Given the description of an element on the screen output the (x, y) to click on. 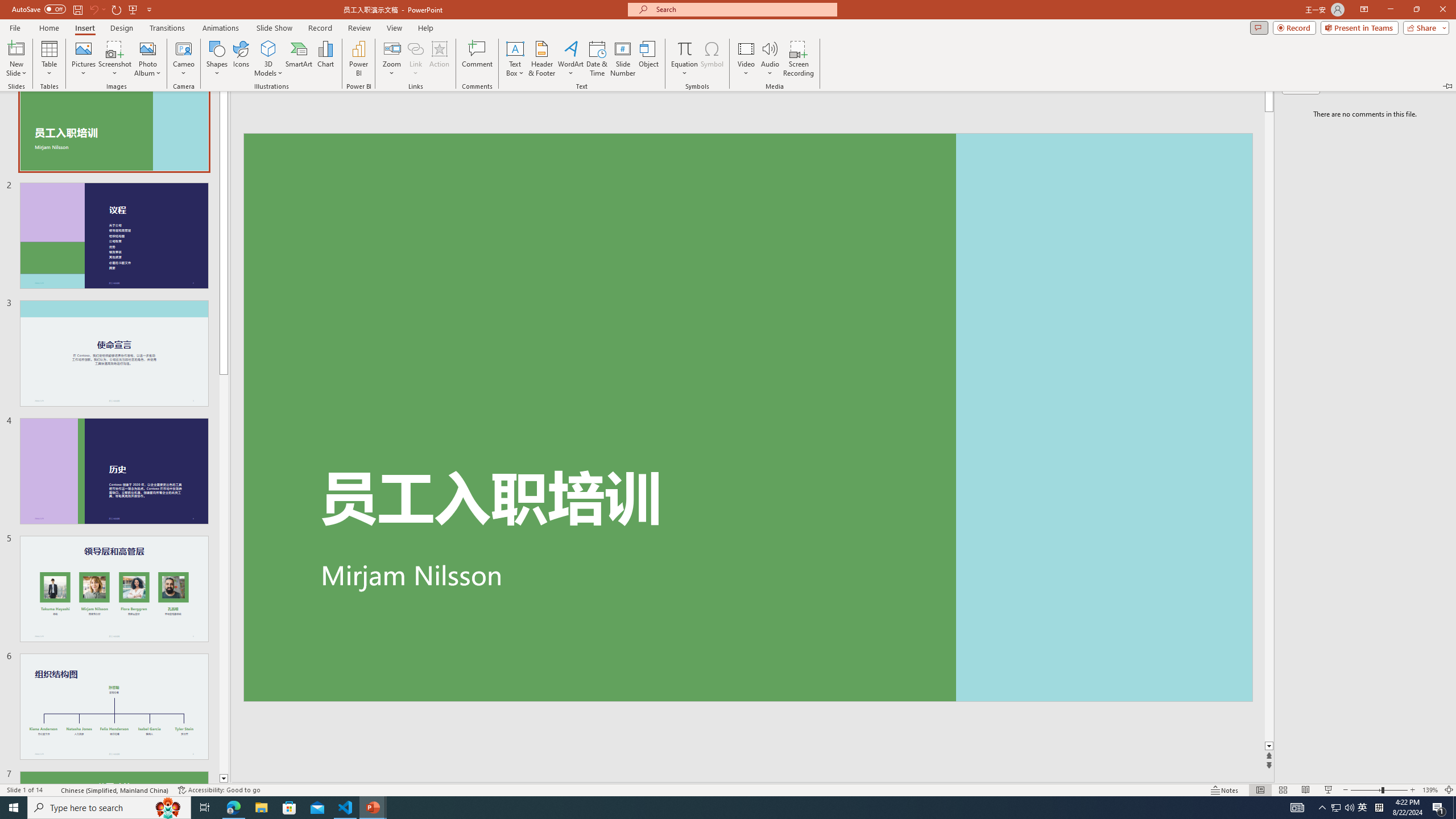
Phonetic Guide... (350, 77)
Styles (1025, 107)
Line and Paragraph Spacing (527, 102)
Bold (98, 102)
Font Color (323, 102)
Undo Italic (159, 18)
